Given the description of an element on the screen output the (x, y) to click on. 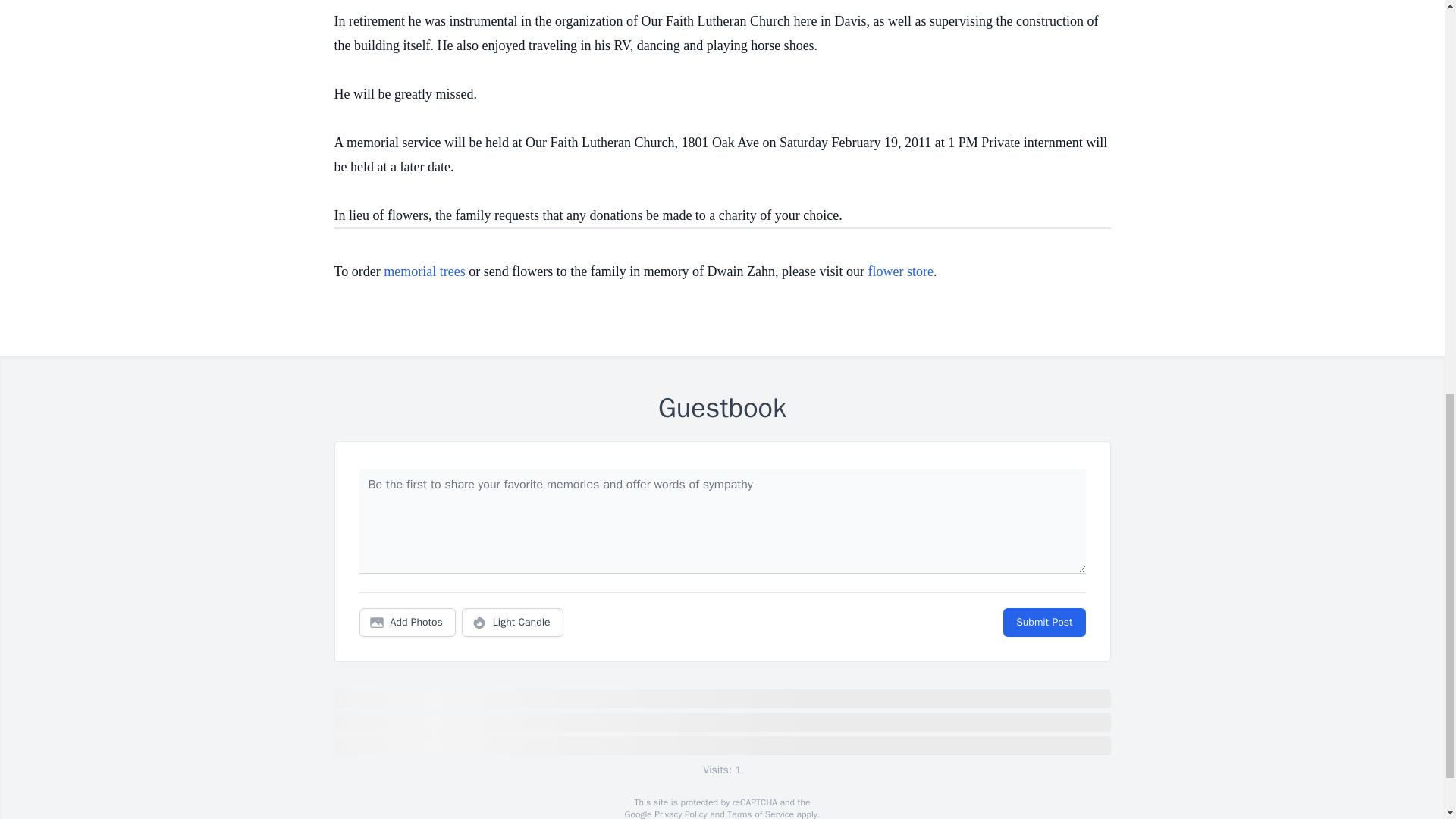
flower store (900, 271)
Privacy Policy (679, 813)
memorial trees (424, 271)
Terms of Service (759, 813)
Add Photos (407, 622)
Light Candle (512, 622)
Submit Post (1043, 622)
